Given the description of an element on the screen output the (x, y) to click on. 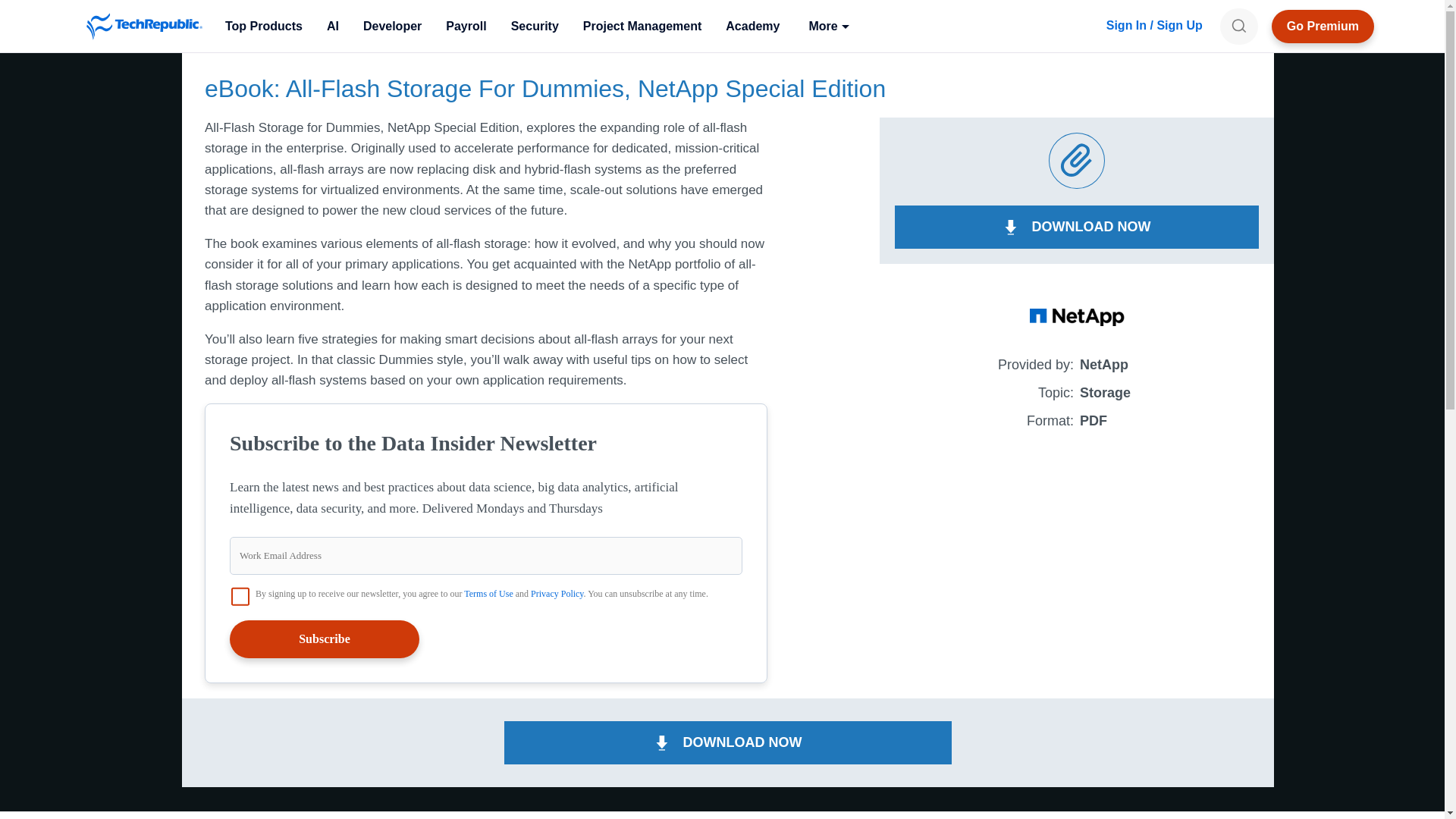
TechRepublic (143, 25)
DOWNLOAD NOW (1077, 226)
Payroll (465, 26)
on (239, 597)
Go Premium (1322, 25)
Privacy Policy (557, 593)
Subscribe (324, 638)
Project Management (641, 26)
TechRepublic (143, 25)
Security (534, 26)
